Given the description of an element on the screen output the (x, y) to click on. 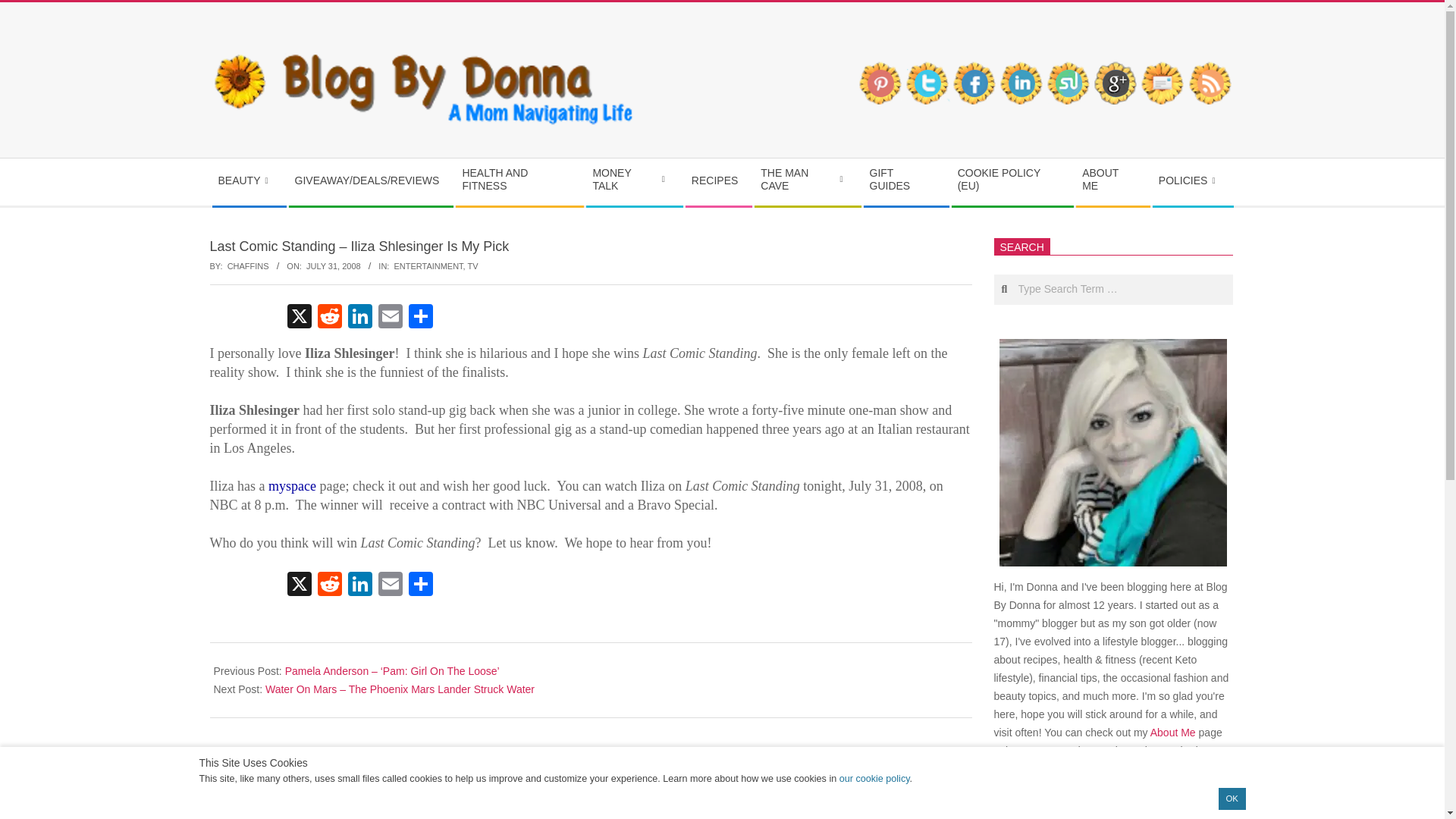
Reddit (328, 317)
TV (473, 266)
THE MAN CAVE (806, 181)
Thursday, July 31, 2008, 12:17 pm (333, 266)
GIFT GUIDES (905, 181)
BEAUTY (248, 180)
MONEY TALK (633, 181)
LinkedIn (358, 317)
HEALTH AND FITNESS (519, 181)
Iliza Shlesinger's MySpace Page (291, 486)
ABOUT ME (1112, 181)
LinkedIn (358, 585)
ENTERTAINMENT (428, 266)
CHAFFINS (248, 266)
X (298, 585)
